Given the description of an element on the screen output the (x, y) to click on. 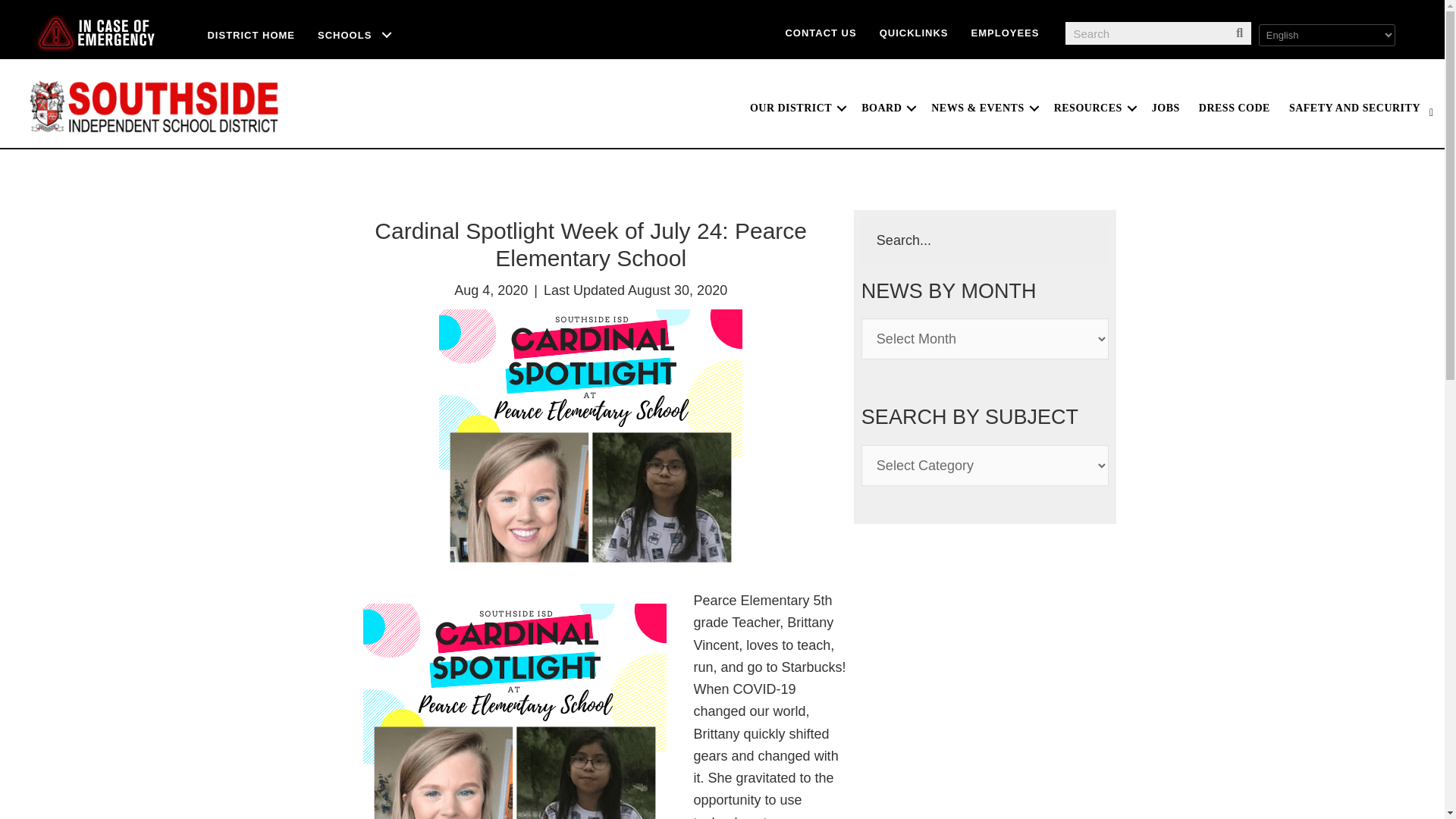
SCHOOLS (354, 34)
QUICKLINKS (913, 32)
EMPLOYEES (1005, 32)
BOARD (886, 108)
CONTACT US (820, 32)
OUR DISTRICT (796, 108)
DISTRICT HOME (250, 34)
